Given the description of an element on the screen output the (x, y) to click on. 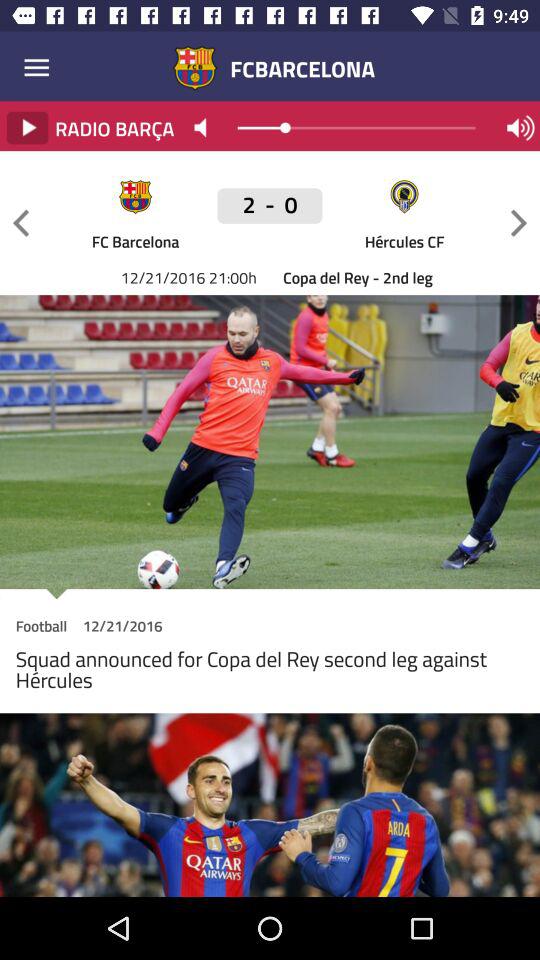
go to previous (21, 222)
